Given the description of an element on the screen output the (x, y) to click on. 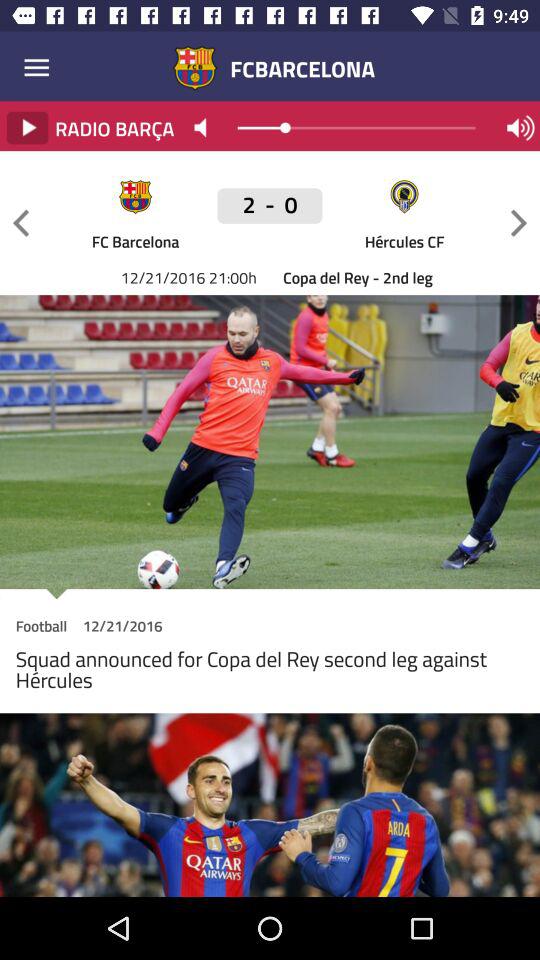
go to previous (21, 222)
